Given the description of an element on the screen output the (x, y) to click on. 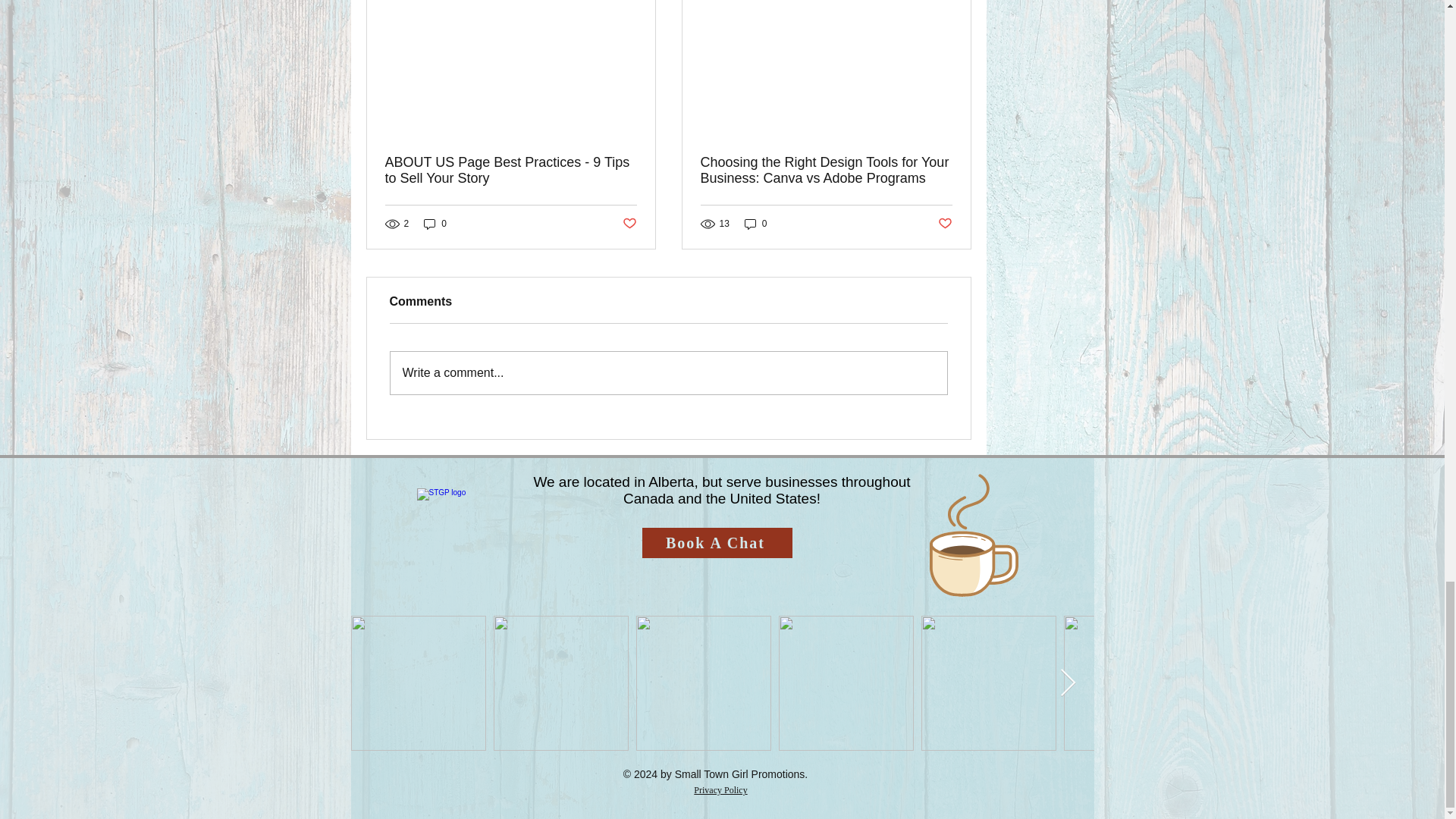
0 (435, 223)
ABOUT US Page Best Practices - 9 Tips to Sell Your Story (511, 170)
